Given the description of an element on the screen output the (x, y) to click on. 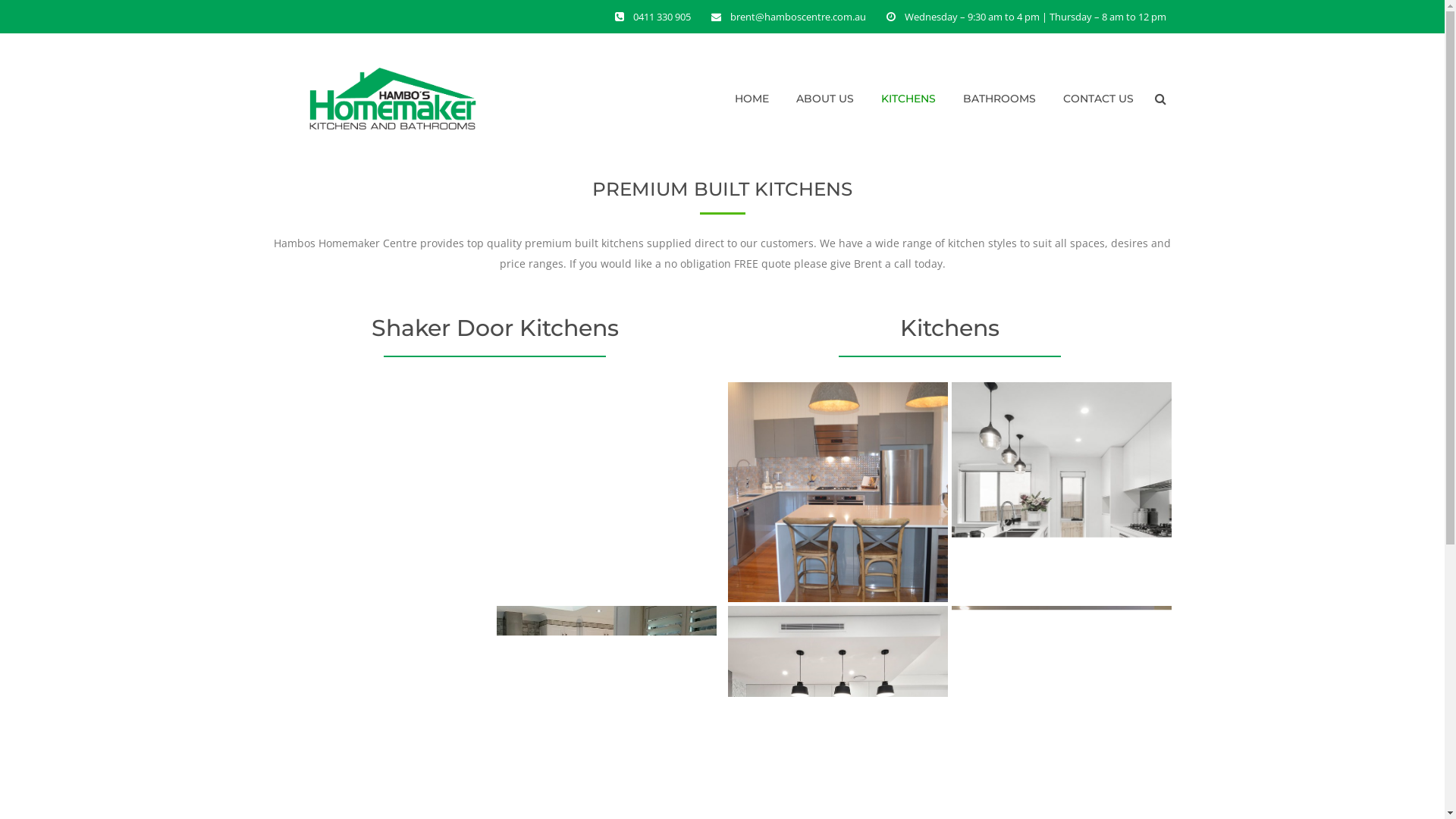
K33 Element type: hover (1061, 492)
KITCHENS Element type: text (908, 98)
shaker3 Element type: hover (606, 492)
CONTACT US Element type: text (1098, 98)
K29 Element type: hover (837, 492)
ABOUT US Element type: text (824, 98)
shaker4 Element type: hover (382, 492)
BATHROOMS Element type: text (999, 98)
HOME Element type: text (751, 98)
